Given the description of an element on the screen output the (x, y) to click on. 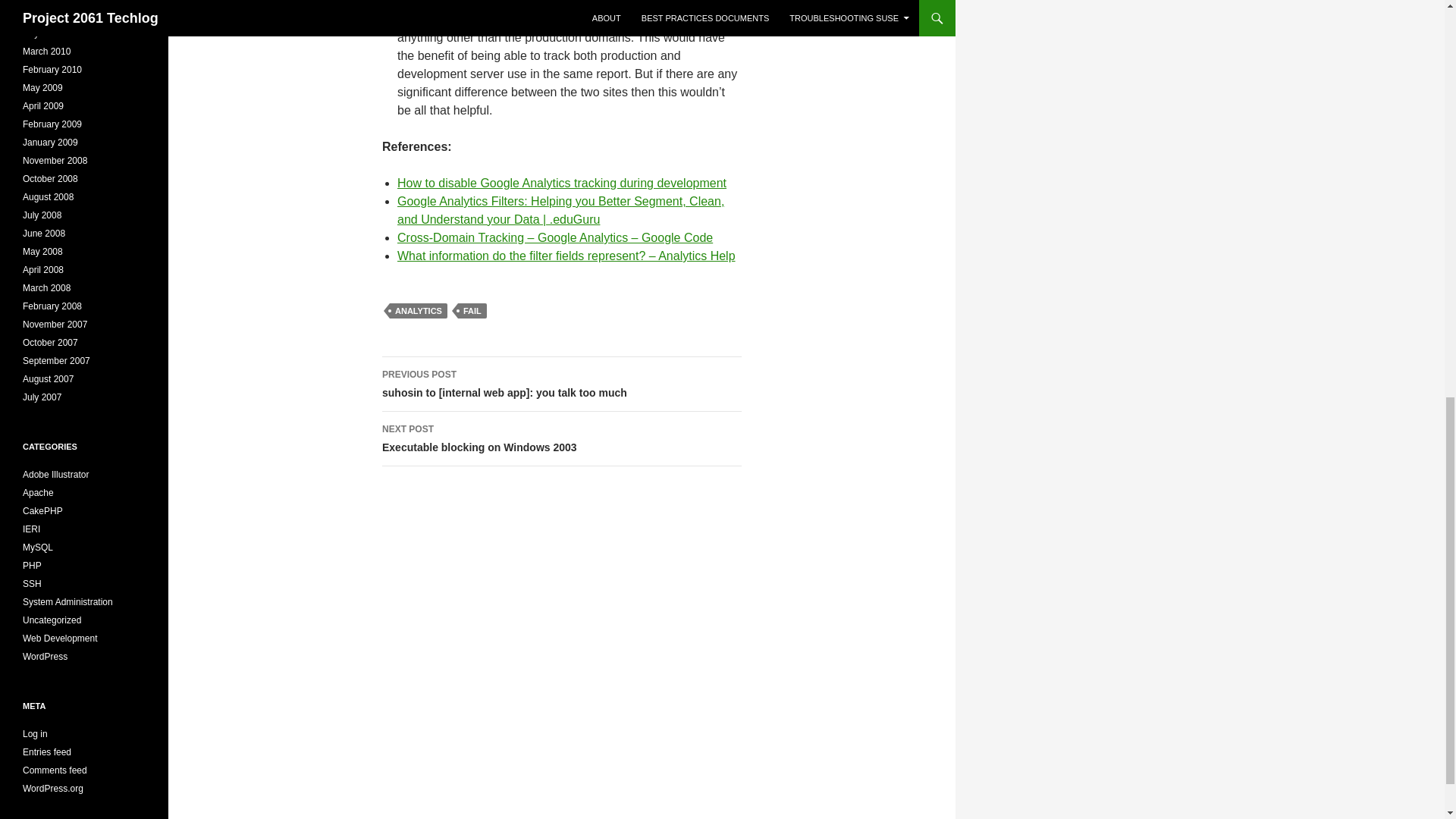
FAIL (561, 438)
ANALYTICS (472, 310)
How to disable Google Analytics tracking during development (418, 310)
